Given the description of an element on the screen output the (x, y) to click on. 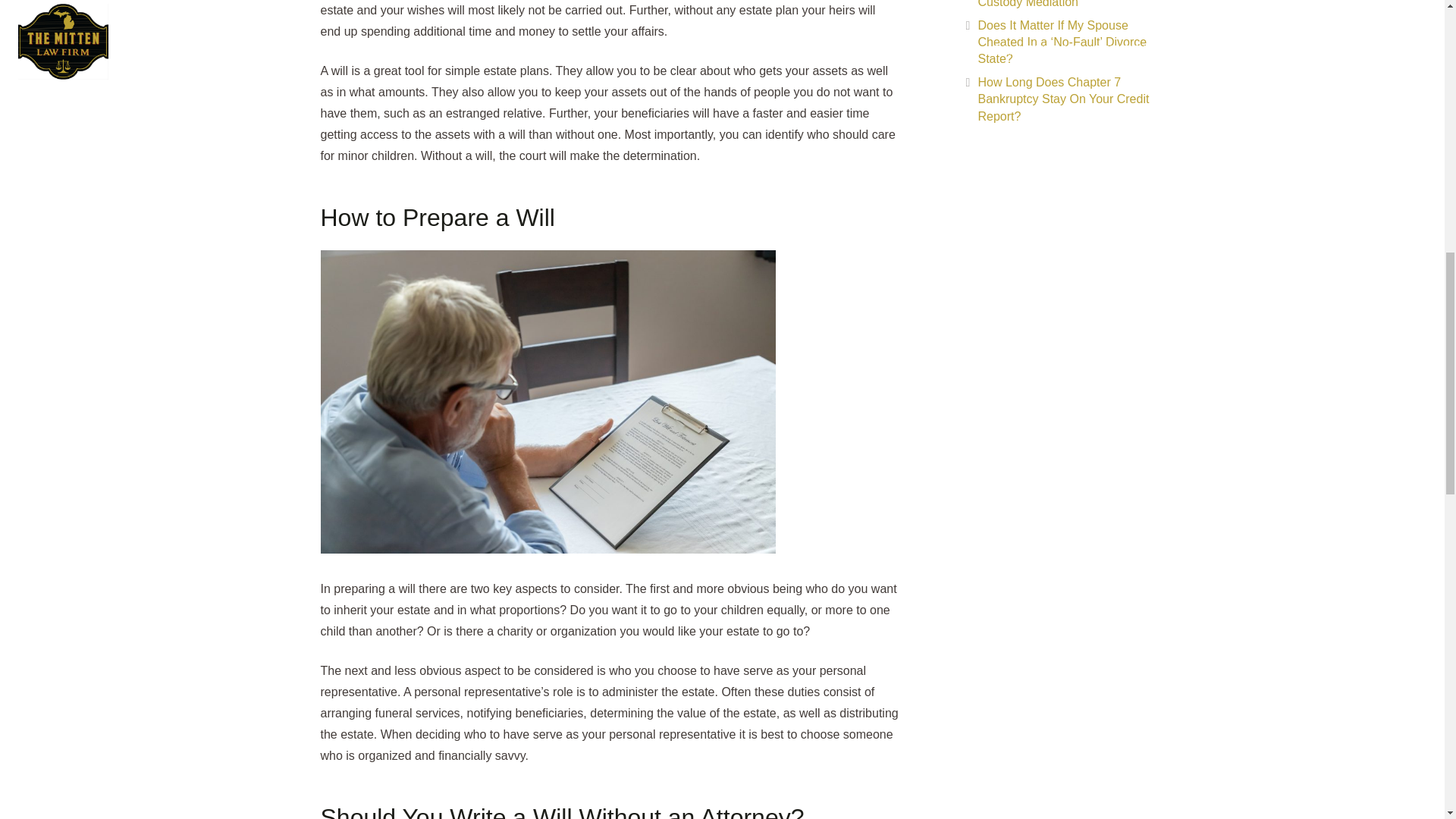
What NOT To Say During Child Custody Mediation (1061, 4)
Back to top (1413, 30)
